Given the description of an element on the screen output the (x, y) to click on. 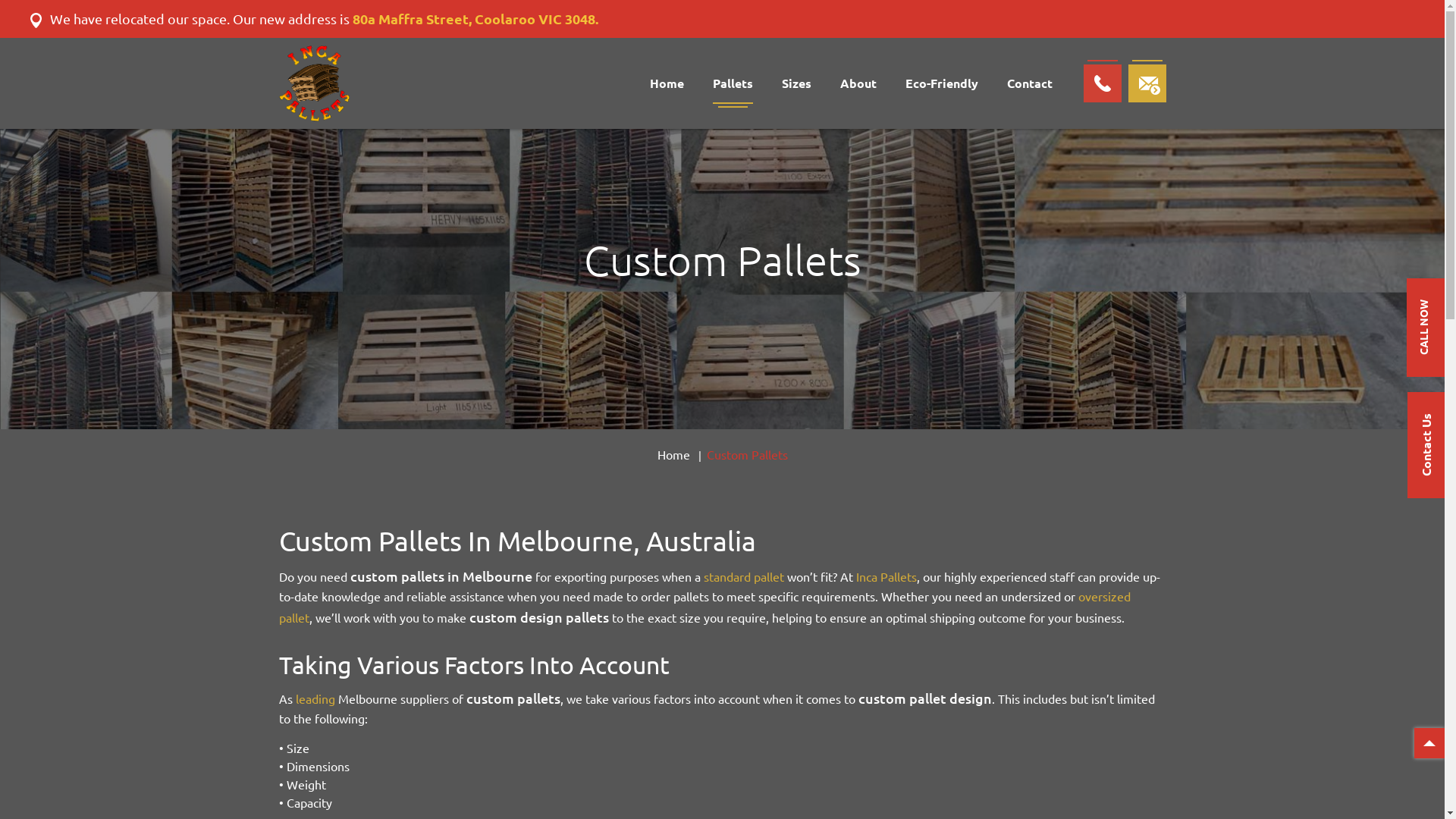
0400 378 801 Element type: hover (1101, 83)
Contact Element type: text (1029, 82)
standard pallet Element type: text (743, 576)
leading Element type: text (315, 699)
Home Element type: text (666, 82)
Eco-Friendly Element type: text (941, 82)
Inca Pallets Element type: hover (314, 81)
info@incapallets.com.au Element type: hover (1147, 83)
Pallets Element type: text (732, 82)
Home Element type: text (672, 454)
About Element type: text (858, 82)
oversized pallet Element type: text (704, 606)
Inca Pallets Element type: text (885, 576)
Sizes Element type: text (795, 82)
